Given the description of an element on the screen output the (x, y) to click on. 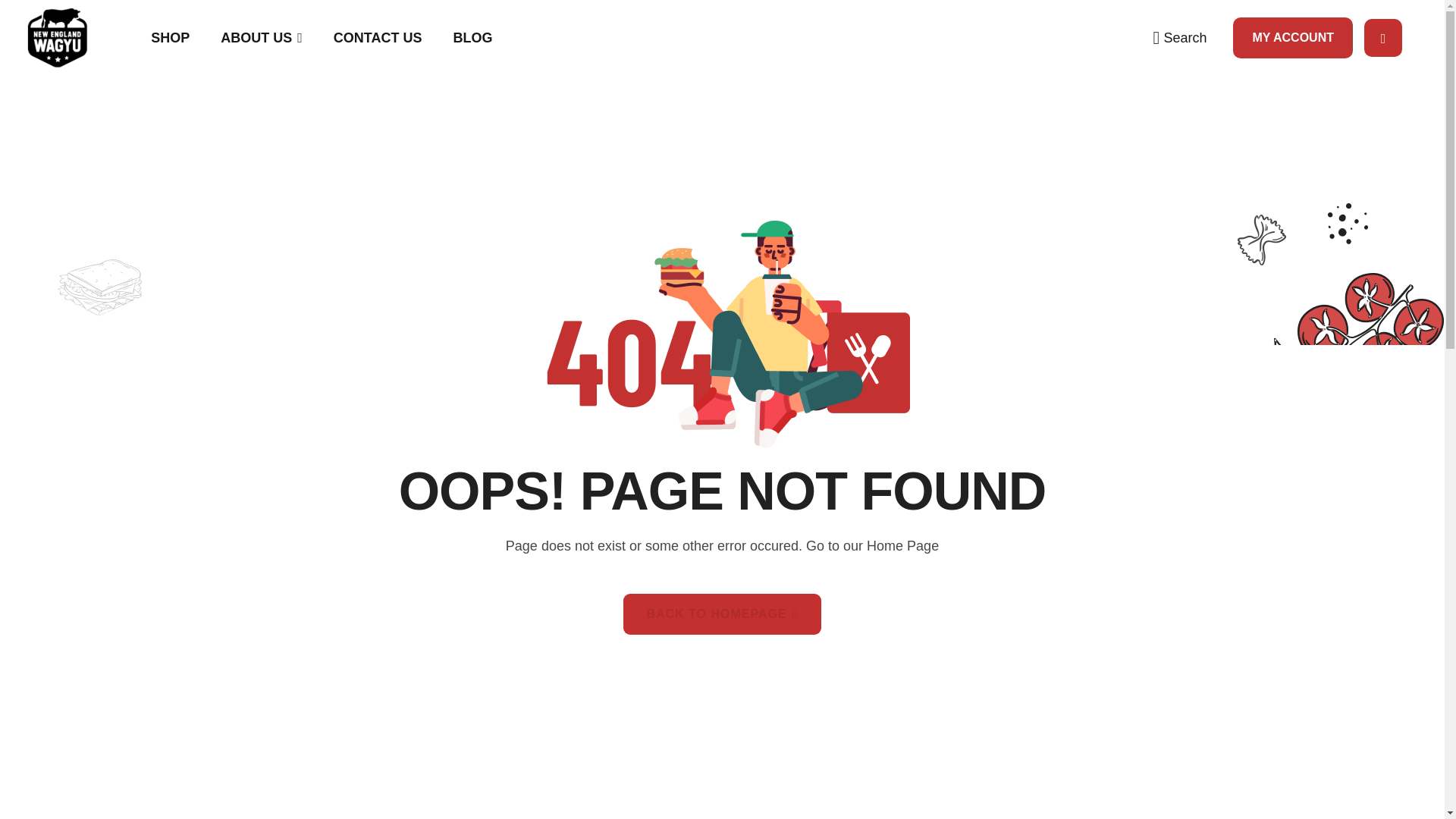
MY ACCOUNT (1292, 37)
ABOUT US (260, 38)
Search (1180, 37)
CONTACT US (377, 38)
BACK TO HOMEPAGE (722, 613)
